Given the description of an element on the screen output the (x, y) to click on. 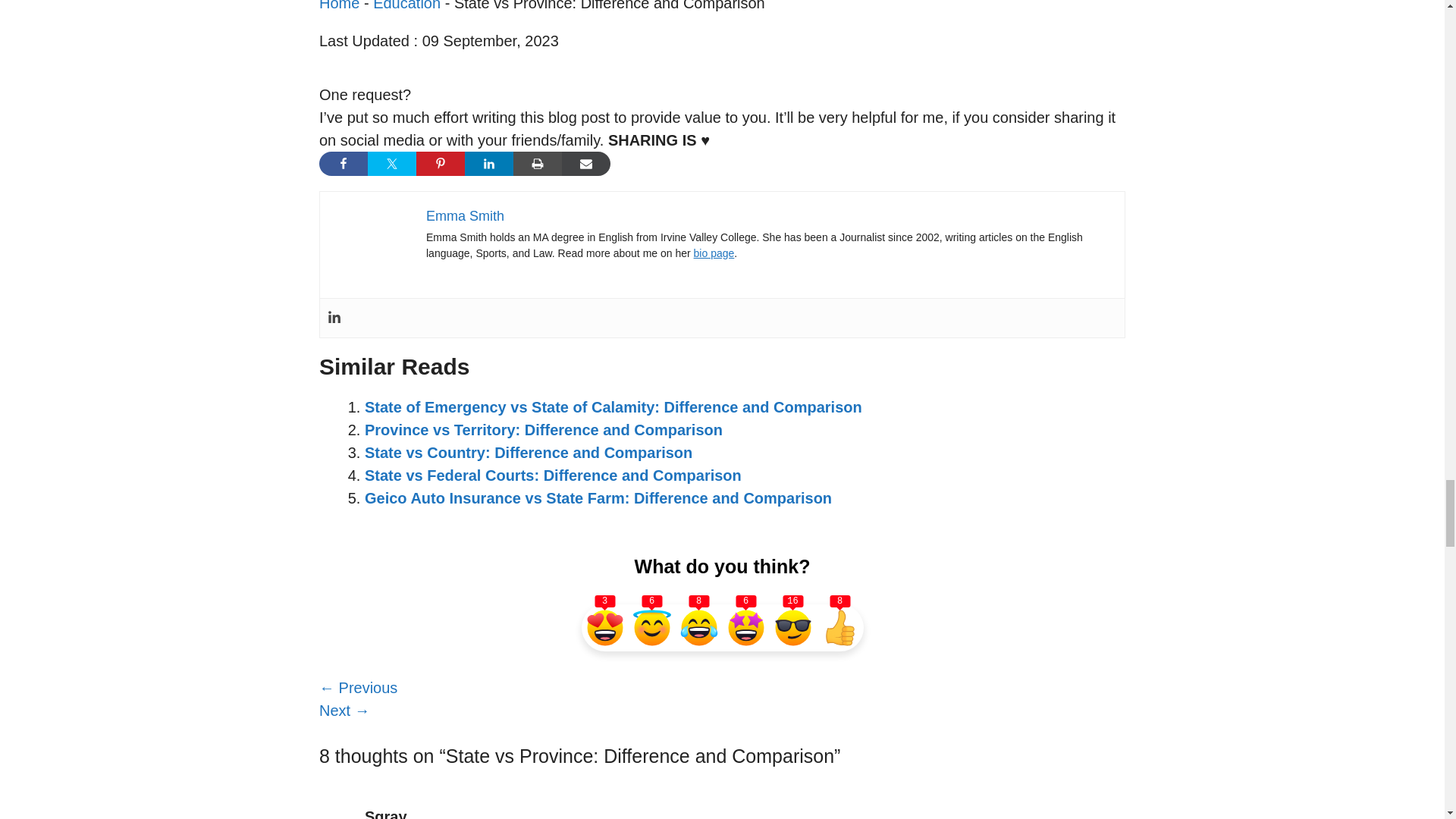
Print this Page (537, 163)
Share via Email (586, 163)
State vs Federal Courts: Difference and Comparison (553, 475)
Share on Facebook (343, 163)
Province vs Territory: Difference and Comparison (543, 429)
Share on Pinterest (440, 163)
Share on LinkedIn (488, 163)
Share on Twitter (392, 163)
State vs Country: Difference and Comparison (529, 452)
